Given the description of an element on the screen output the (x, y) to click on. 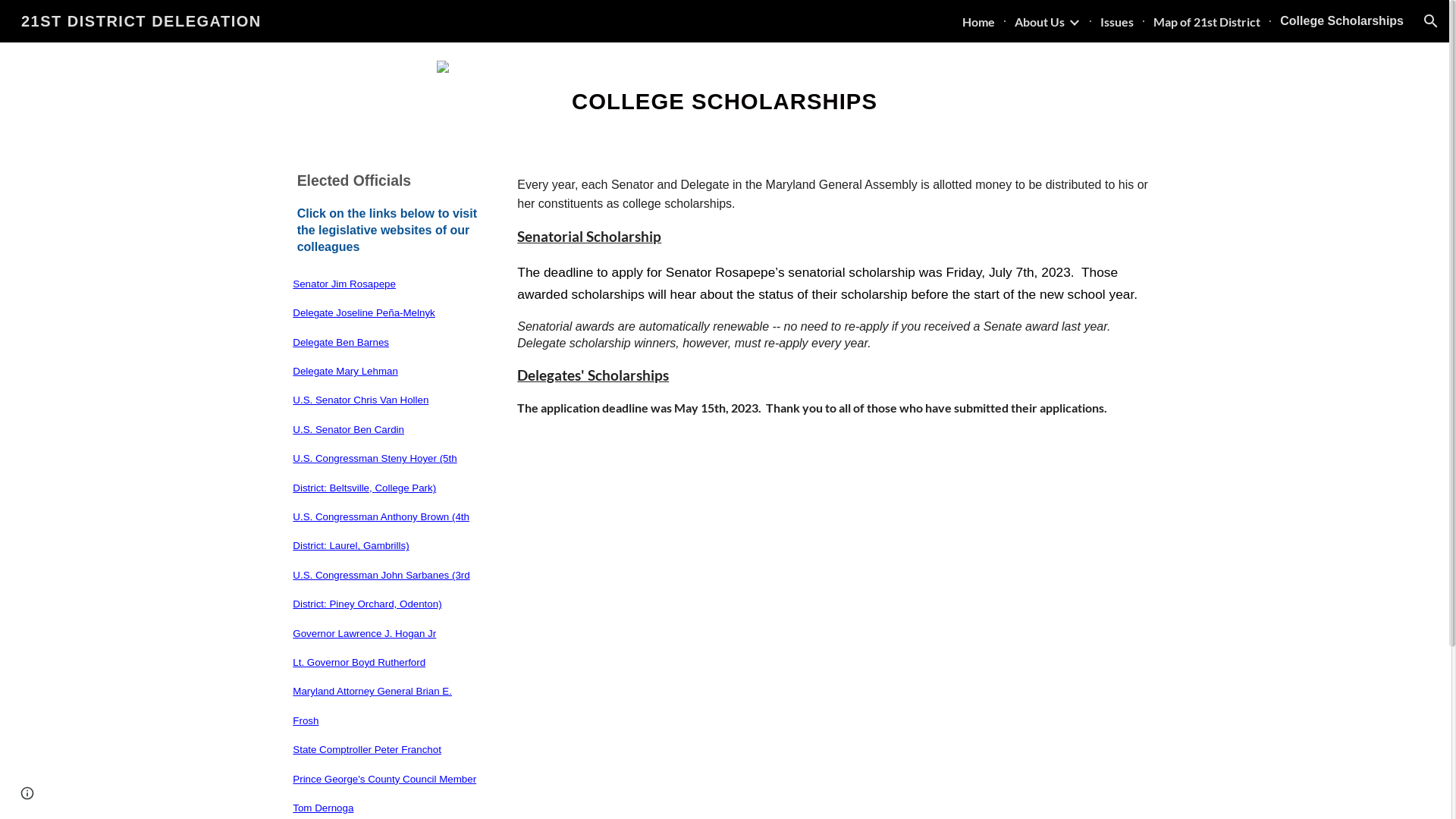
Governor Lawrence J. Hogan Jr Element type: text (364, 632)
Maryland Attorney General Brian E. Frosh Element type: text (371, 704)
Home Element type: text (978, 20)
21ST DISTRICT DELEGATION Element type: text (141, 19)
State Comptroller Peter Franchot Element type: text (366, 748)
U.S. Senator Chris Van Hollen Element type: text (360, 398)
College Scholarships Element type: text (1341, 21)
Delegate Mary Lehman Element type: text (345, 370)
Issues Element type: text (1116, 20)
About Us Element type: text (1039, 20)
U.S. Senator Ben Cardin Element type: text (348, 428)
Delegate Ben Barnes Element type: text (340, 341)
Expand/Collapse Element type: hover (1073, 20)
Senator Jim Rosapepe Element type: text (343, 282)
Prince George's County Council Member Tom Dernoga Element type: text (384, 792)
Map of 21st District Element type: text (1206, 20)
Lt. Governor Boyd Rutherford Element type: text (358, 661)
